Given the description of an element on the screen output the (x, y) to click on. 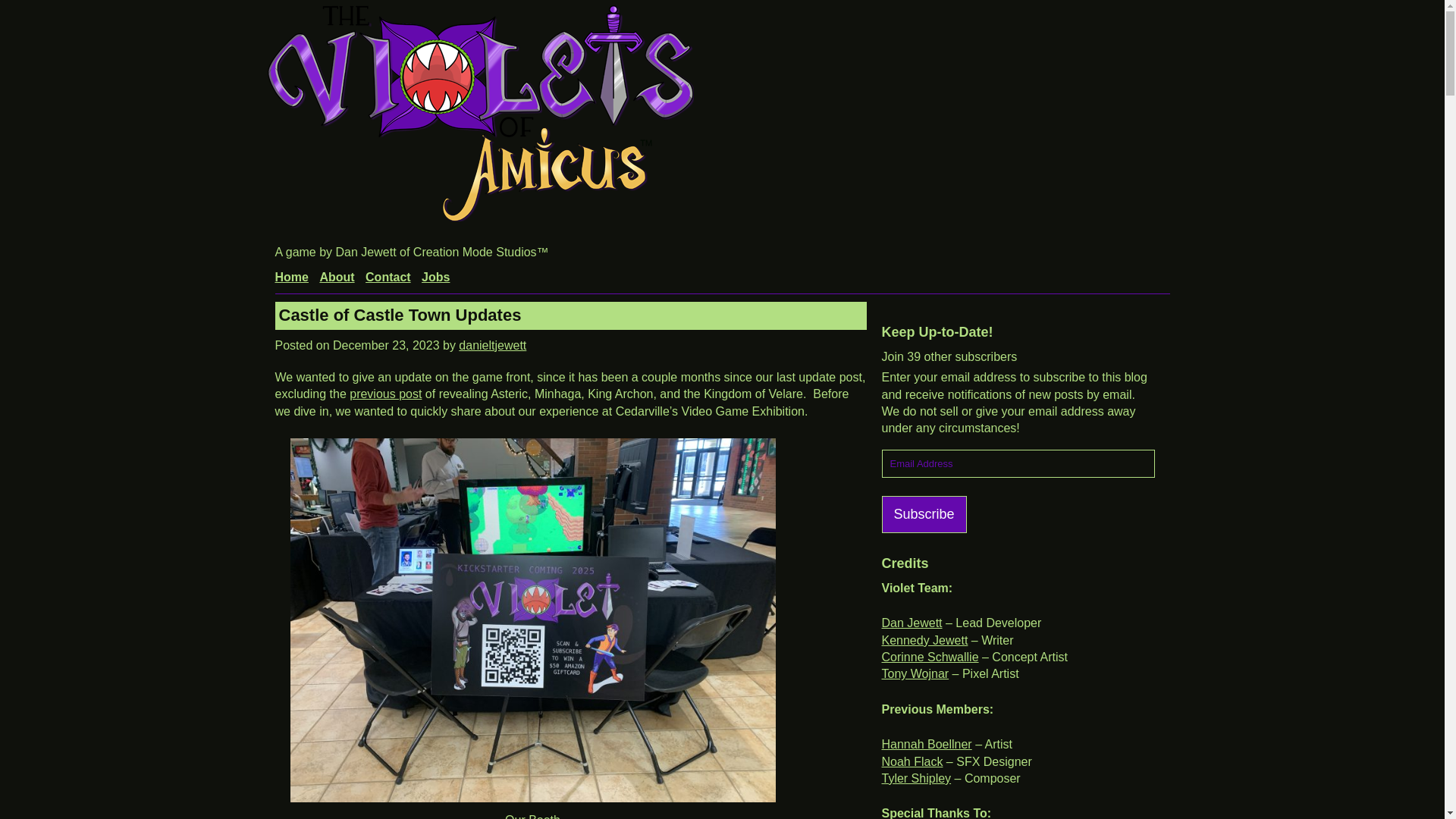
Contact (387, 277)
danieltjewett (491, 345)
Jobs (435, 277)
Home (291, 277)
About (335, 277)
previous post (385, 393)
